Given the description of an element on the screen output the (x, y) to click on. 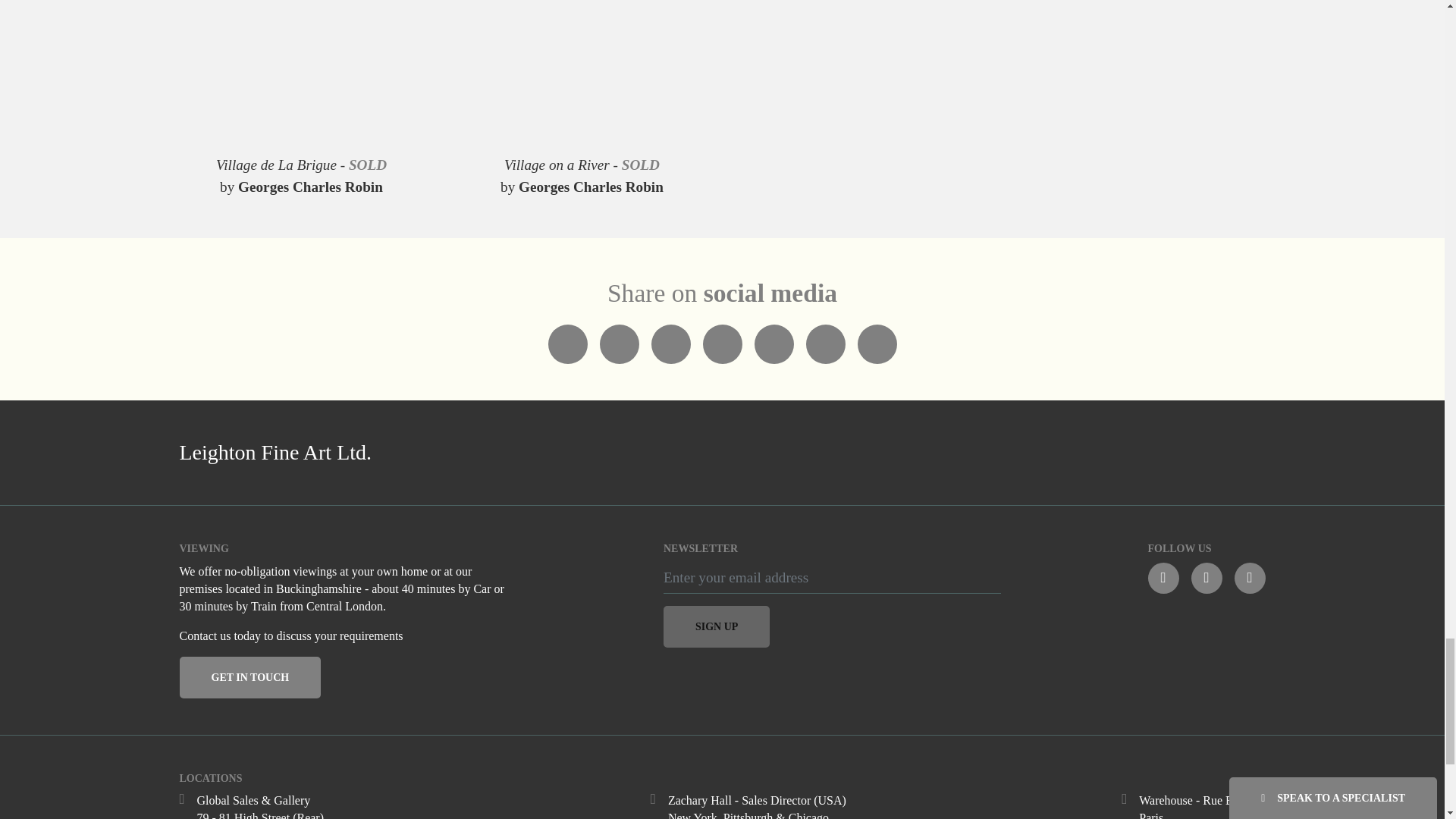
Leighton Fine Art Ltd. (441, 452)
